Given the description of an element on the screen output the (x, y) to click on. 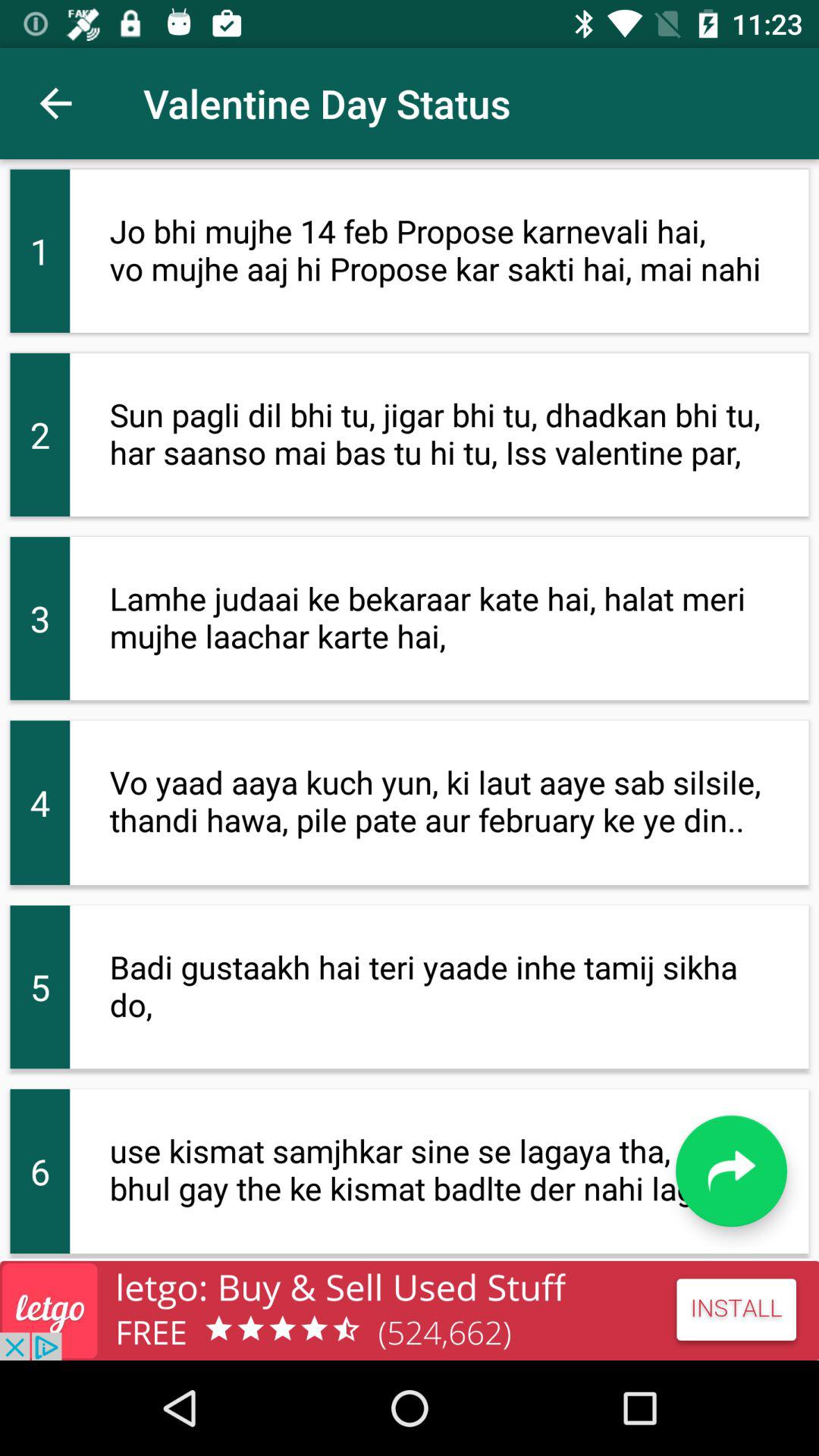
app install (409, 1310)
